Given the description of an element on the screen output the (x, y) to click on. 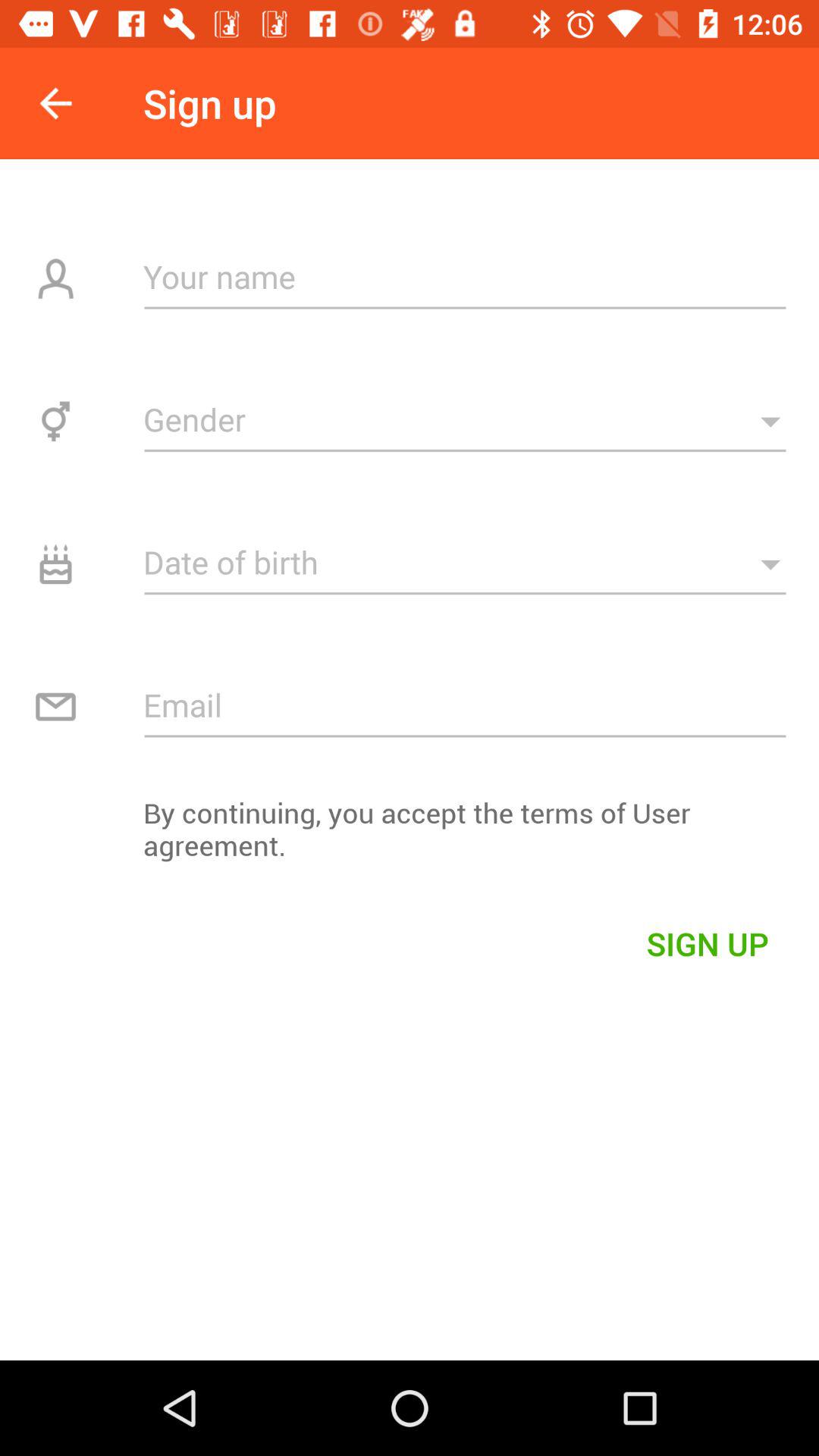
input email address (465, 704)
